Given the description of an element on the screen output the (x, y) to click on. 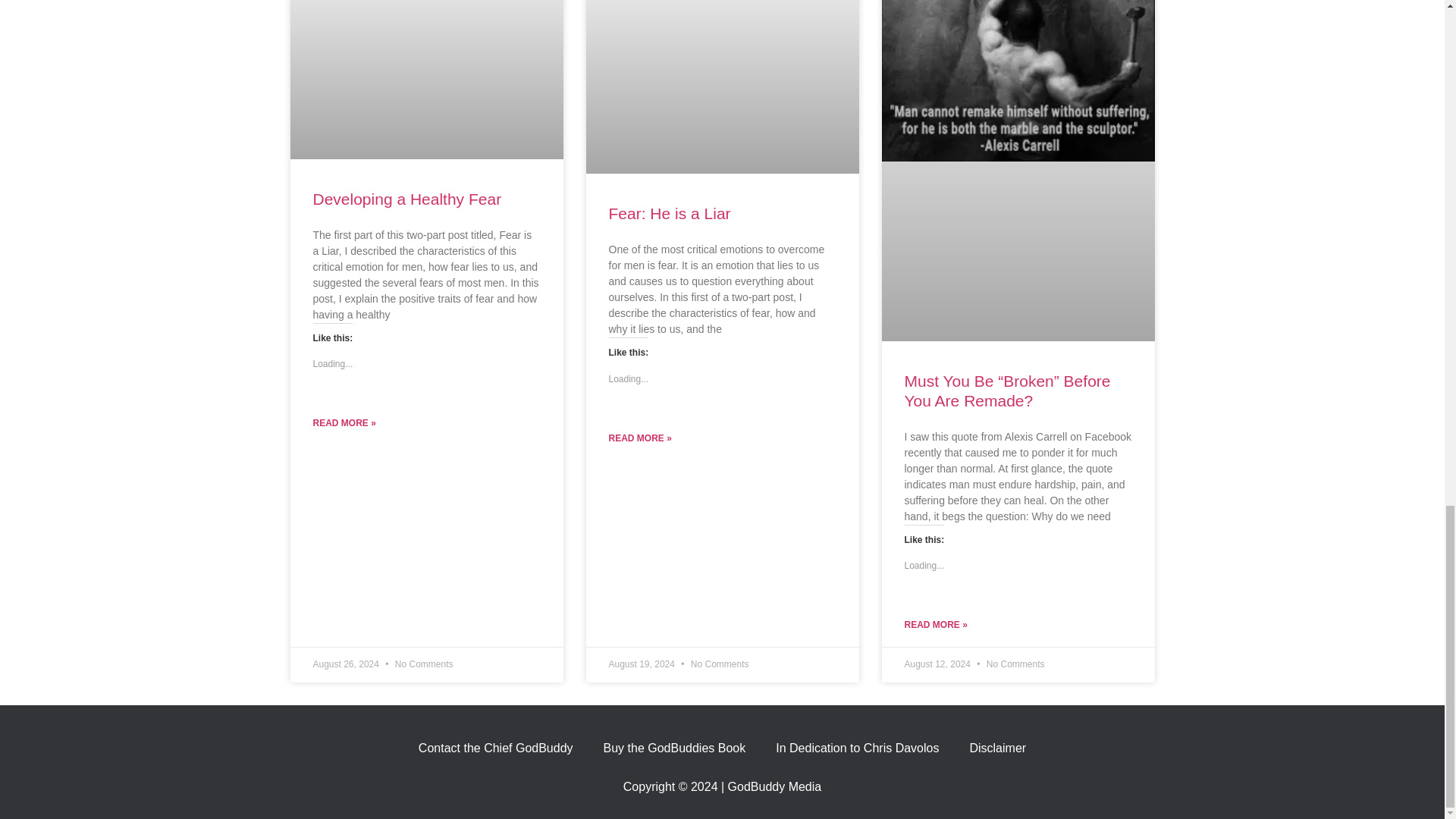
Developing a Healthy Fear (406, 199)
In Dedication to Chris Davolos (856, 748)
Fear: He is a Liar (669, 212)
Disclaimer (997, 748)
Buy the GodBuddies Book (674, 748)
Contact the Chief GodBuddy (495, 748)
